Given the description of an element on the screen output the (x, y) to click on. 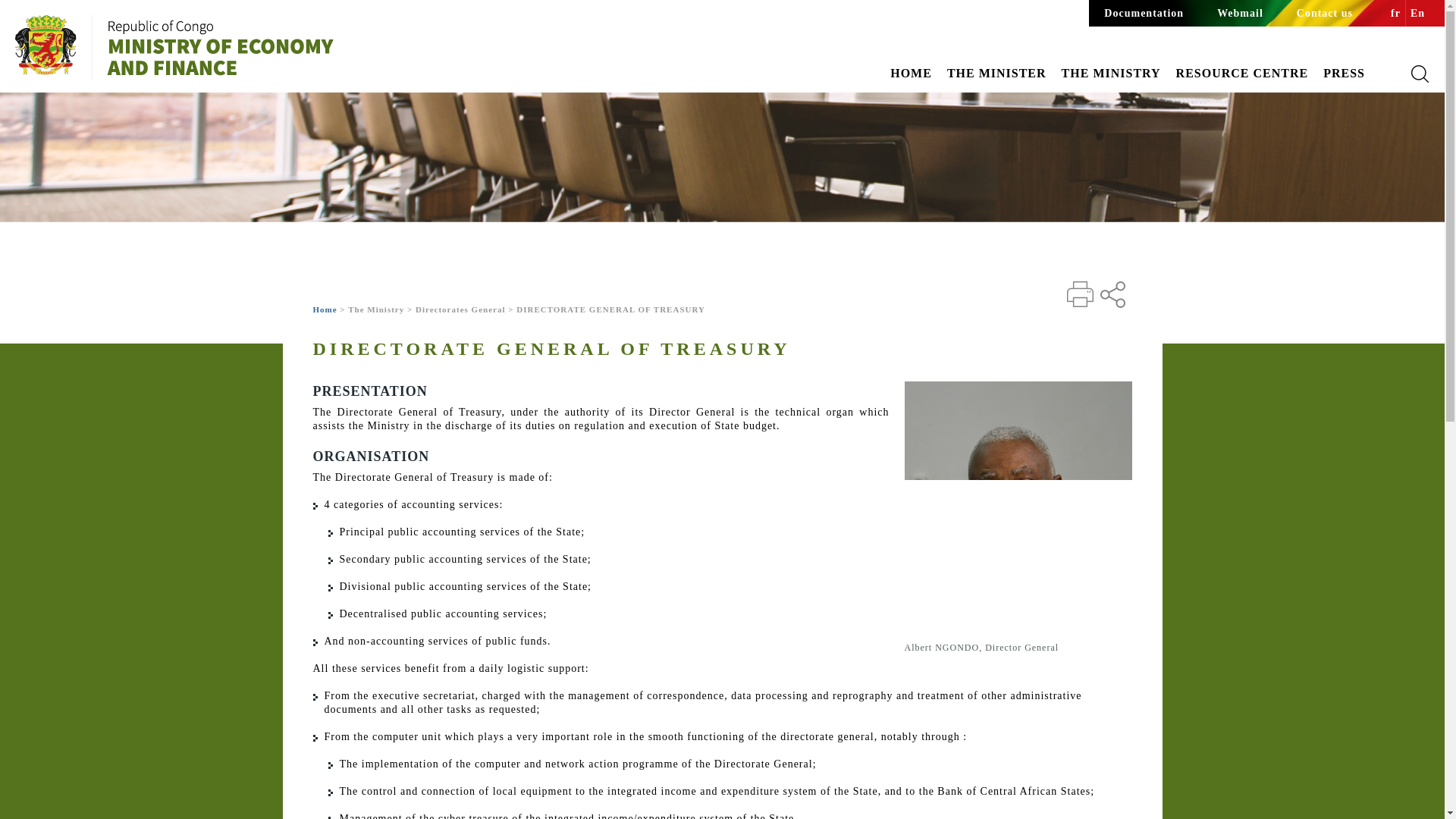
Home (247, 48)
HOME (910, 73)
Contact us (1324, 13)
Documentation (1143, 13)
Webmail (1240, 13)
